Given the description of an element on the screen output the (x, y) to click on. 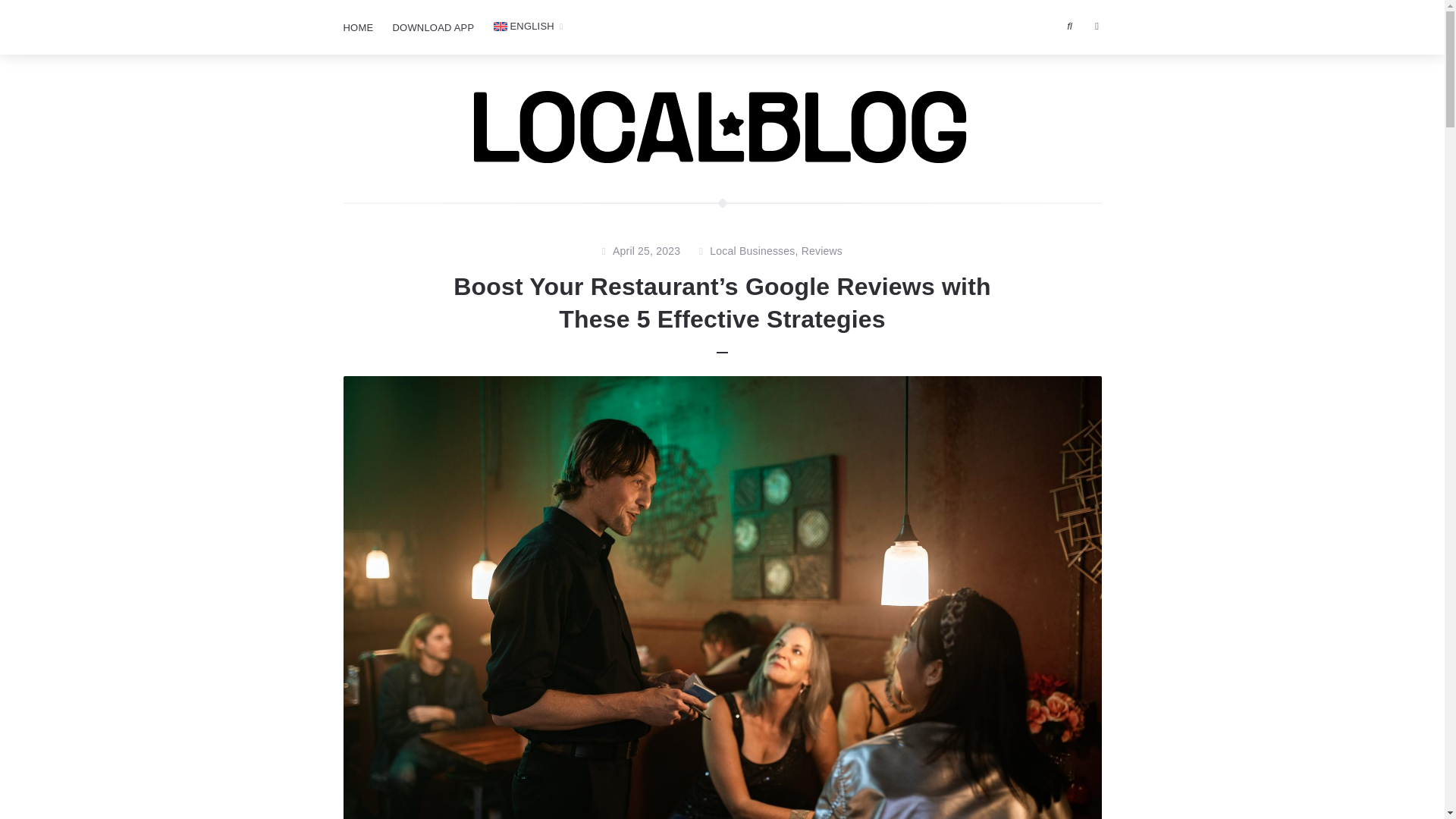
Local Businesses (752, 251)
April 25, 2023 (645, 251)
Reviews (822, 251)
HOME (357, 27)
ENGLISH (528, 26)
DOWNLOAD APP (432, 27)
English (528, 26)
Download LOCALBOSS (432, 27)
